Given the description of an element on the screen output the (x, y) to click on. 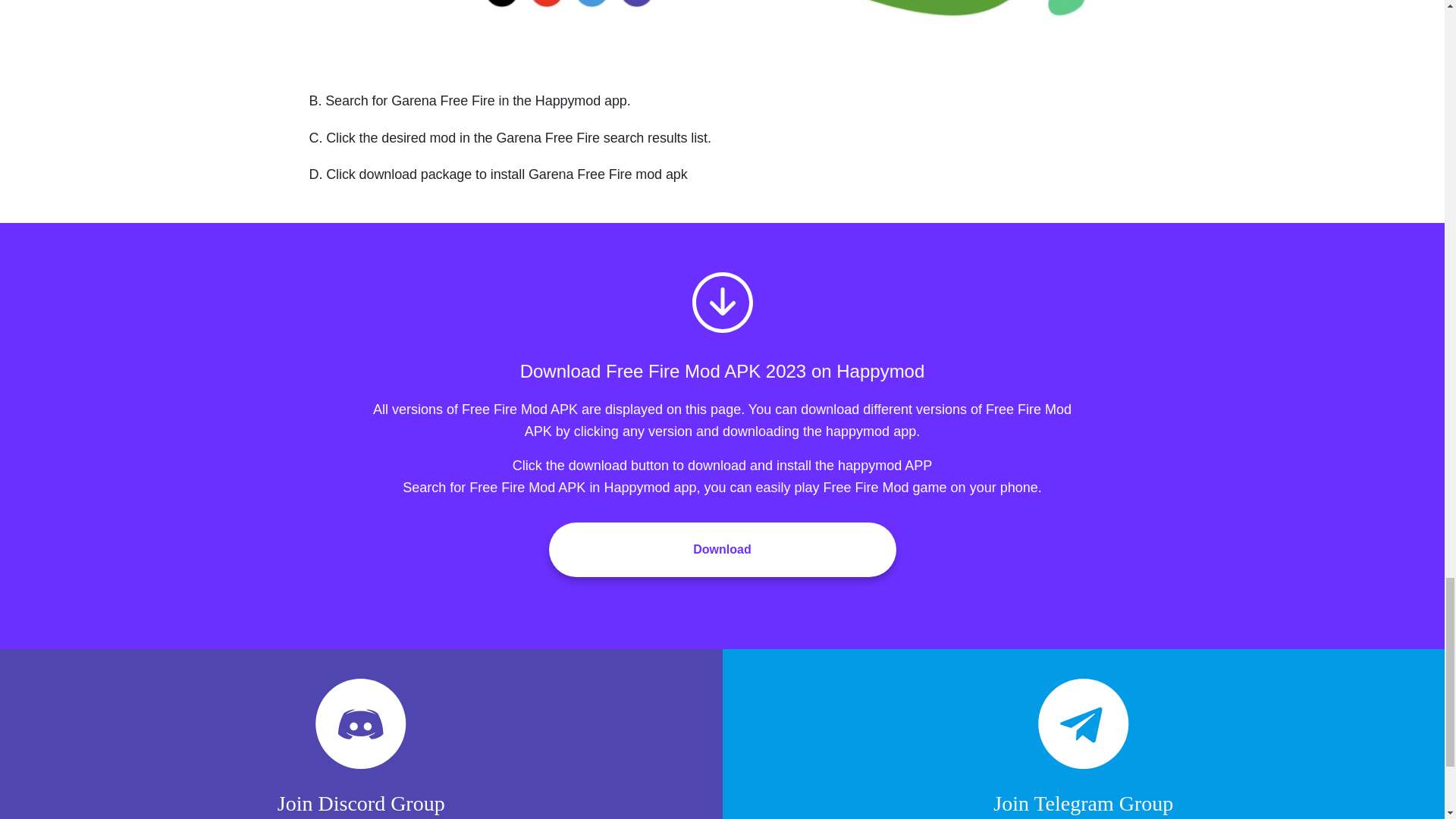
Download (722, 549)
Join Discord Group (361, 746)
